Given the description of an element on the screen output the (x, y) to click on. 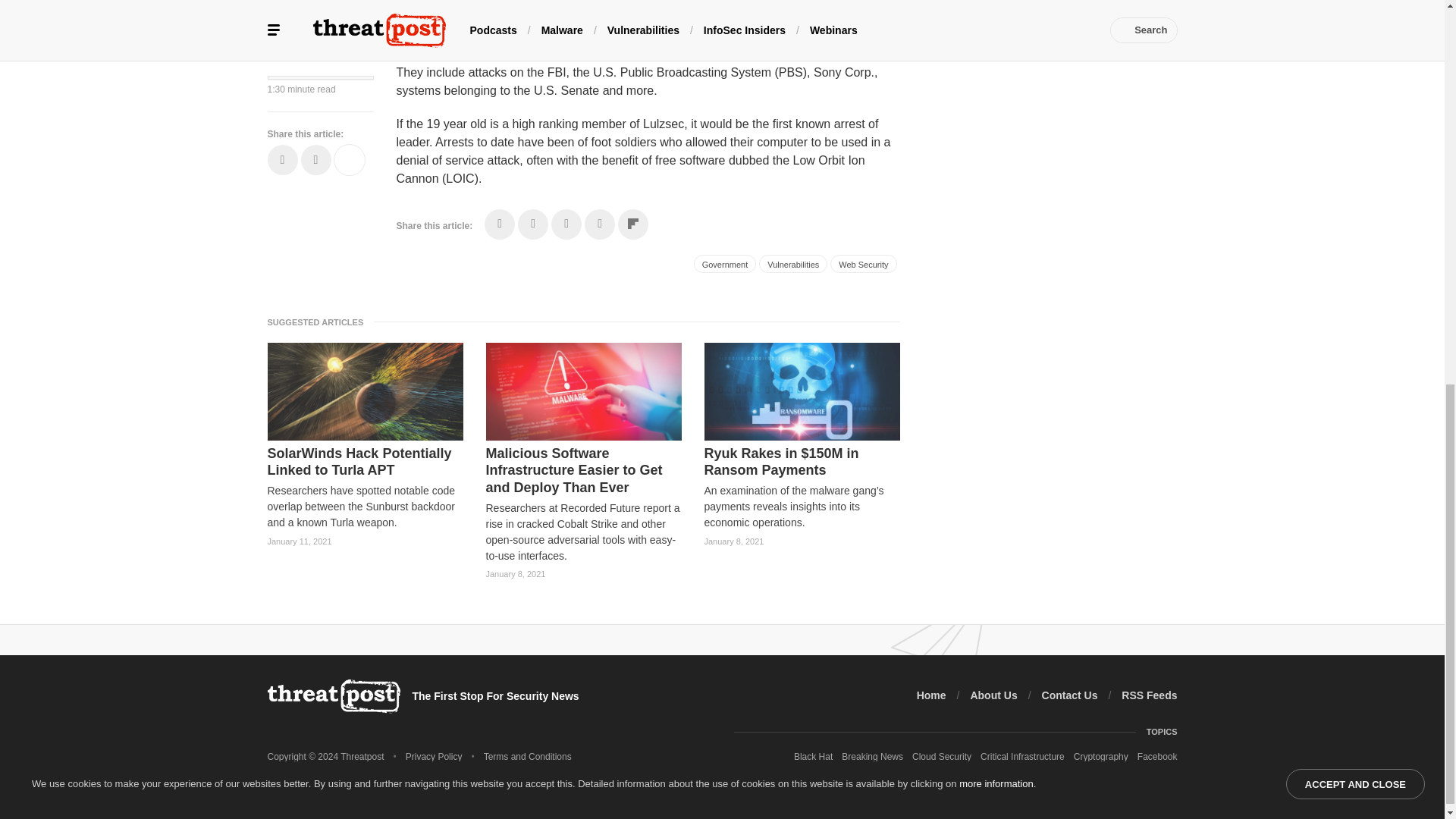
Government (725, 263)
Share via Reddit (599, 224)
Vulnerabilities (792, 263)
Share via LinkedIn (565, 224)
Share via Twitter (533, 224)
SUGGESTED ARTICLES (319, 321)
Web Security (862, 263)
SolarWinds Hack Potentially Linked to Turla APT (364, 462)
Share via Facebook (499, 224)
